Given the description of an element on the screen output the (x, y) to click on. 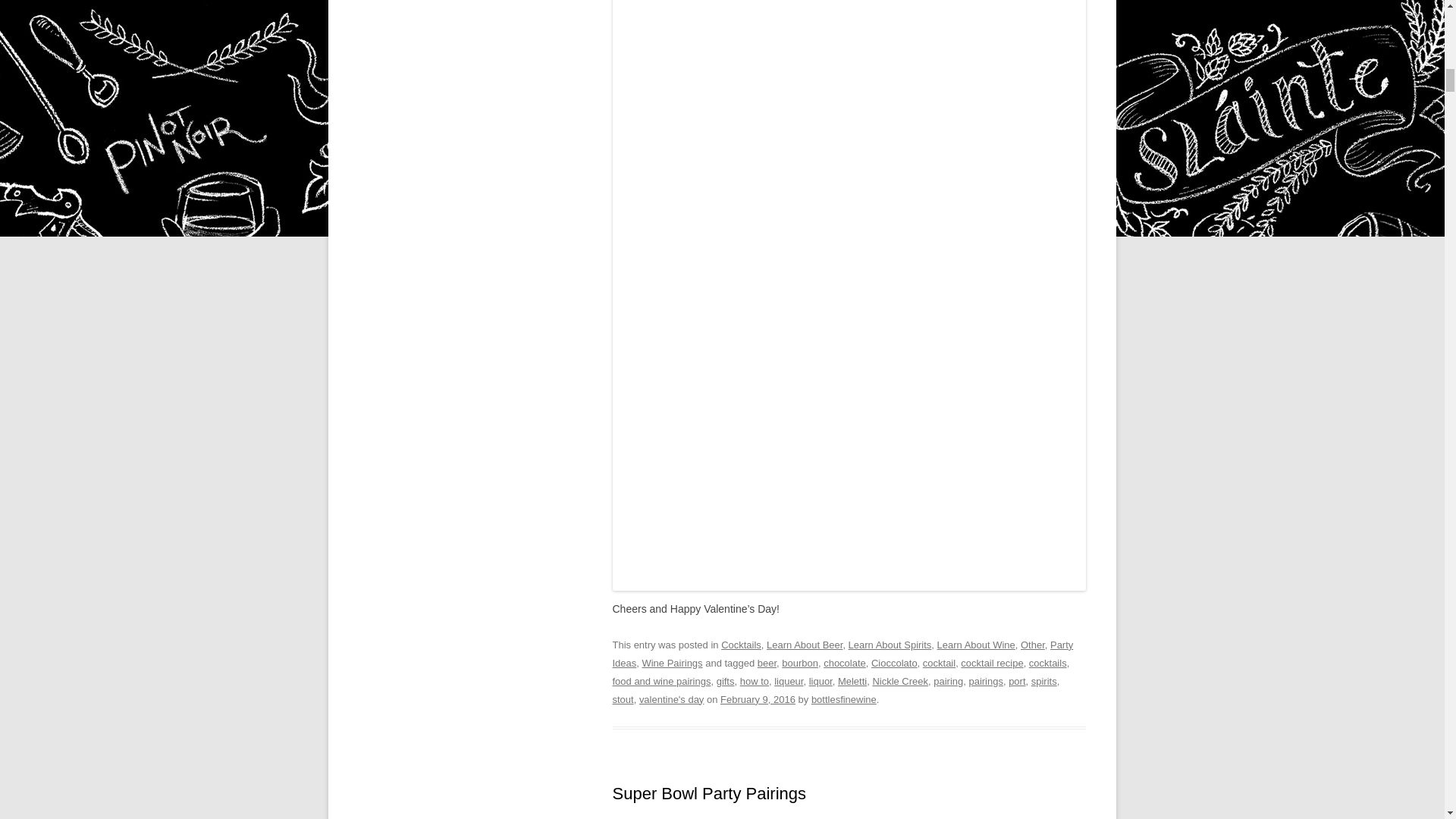
Cocktails (740, 644)
pairings (985, 681)
Wine Pairings (671, 663)
Learn About Wine (975, 644)
spirits (1043, 681)
Learn About Beer (805, 644)
Cioccolato (893, 663)
food and wine pairings (661, 681)
Nickle Creek (900, 681)
how to (753, 681)
